Given the description of an element on the screen output the (x, y) to click on. 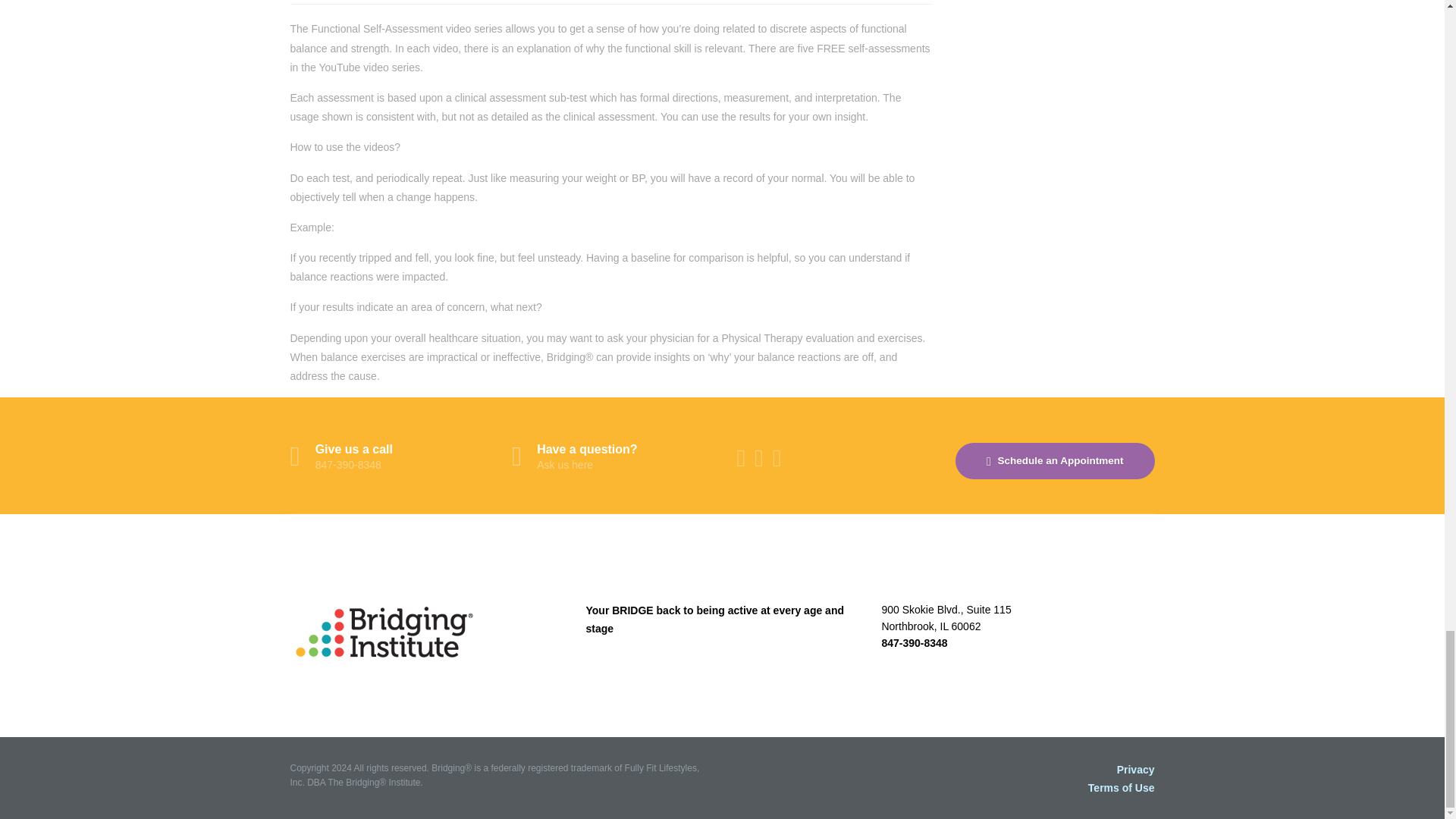
Schedule an Appointment (1054, 461)
Privacy (611, 458)
Terms of Use (1135, 769)
